Given the description of an element on the screen output the (x, y) to click on. 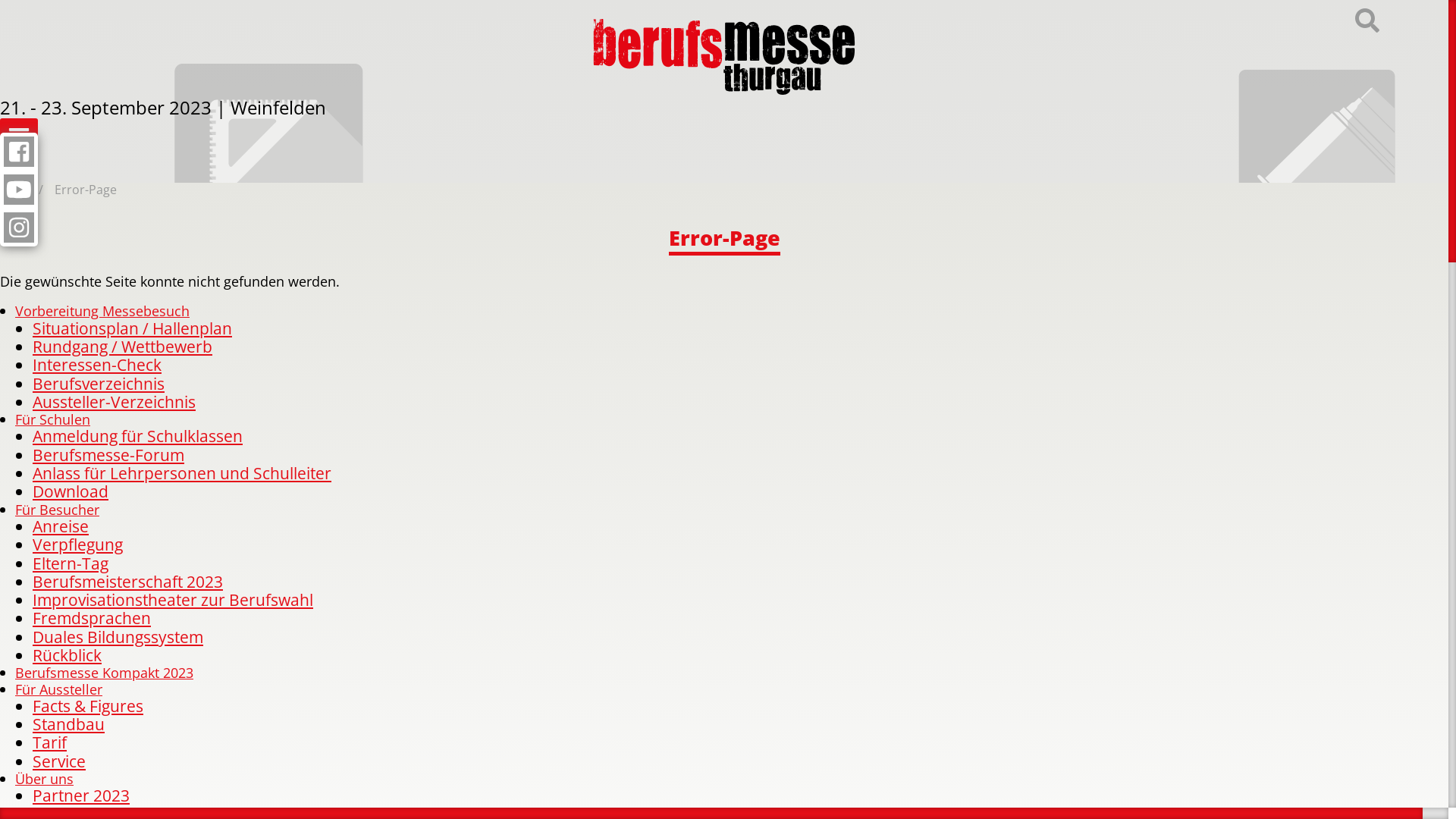
Fremdsprachen Element type: text (91, 617)
Situationsplan / Hallenplan Element type: text (132, 327)
Rundgang / Wettbewerb Element type: text (122, 346)
Download Element type: text (70, 491)
Berufsmesse Kompakt 2023 Element type: text (104, 671)
Anreise Element type: text (60, 525)
Tarif Element type: text (49, 742)
Improvisationstheater zur Berufswahl Element type: text (172, 599)
Aussteller-Verzeichnis Element type: text (113, 401)
Home Element type: text (17, 189)
Partner 2023 Element type: text (80, 795)
Berufsmesse-Forum Element type: text (108, 454)
Interessen-Check Element type: text (96, 364)
Berufsverzeichnis Element type: text (98, 383)
Eltern-Tag Element type: text (70, 563)
Standbau Element type: text (68, 723)
Berufsmeisterschaft 2023 Element type: text (127, 581)
Verpflegung Element type: text (77, 544)
Facts & Figures Element type: text (87, 705)
Service Element type: text (58, 760)
Vorbereitung Messebesuch Element type: text (102, 310)
Duales Bildungssystem Element type: text (117, 636)
